Given the description of an element on the screen output the (x, y) to click on. 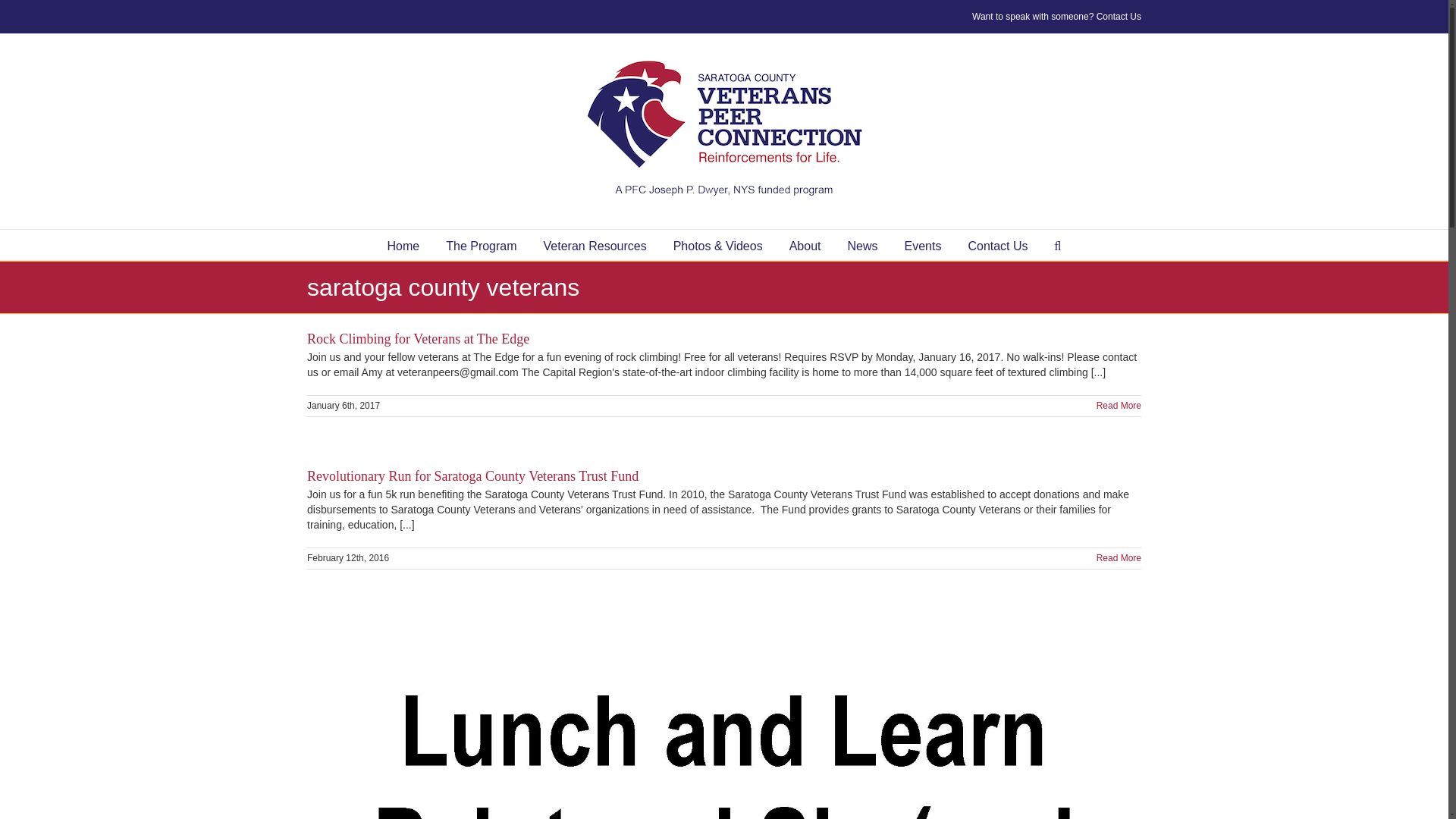
Veteran Resources (594, 245)
Contact Us (1118, 16)
Rock Climbing for Veterans at The Edge (418, 338)
Contact Us (997, 245)
Revolutionary Run for Saratoga County Veterans Trust Fund (473, 476)
Read More (1118, 405)
The Program (480, 245)
Home (403, 245)
About (805, 245)
Events (922, 245)
